Given the description of an element on the screen output the (x, y) to click on. 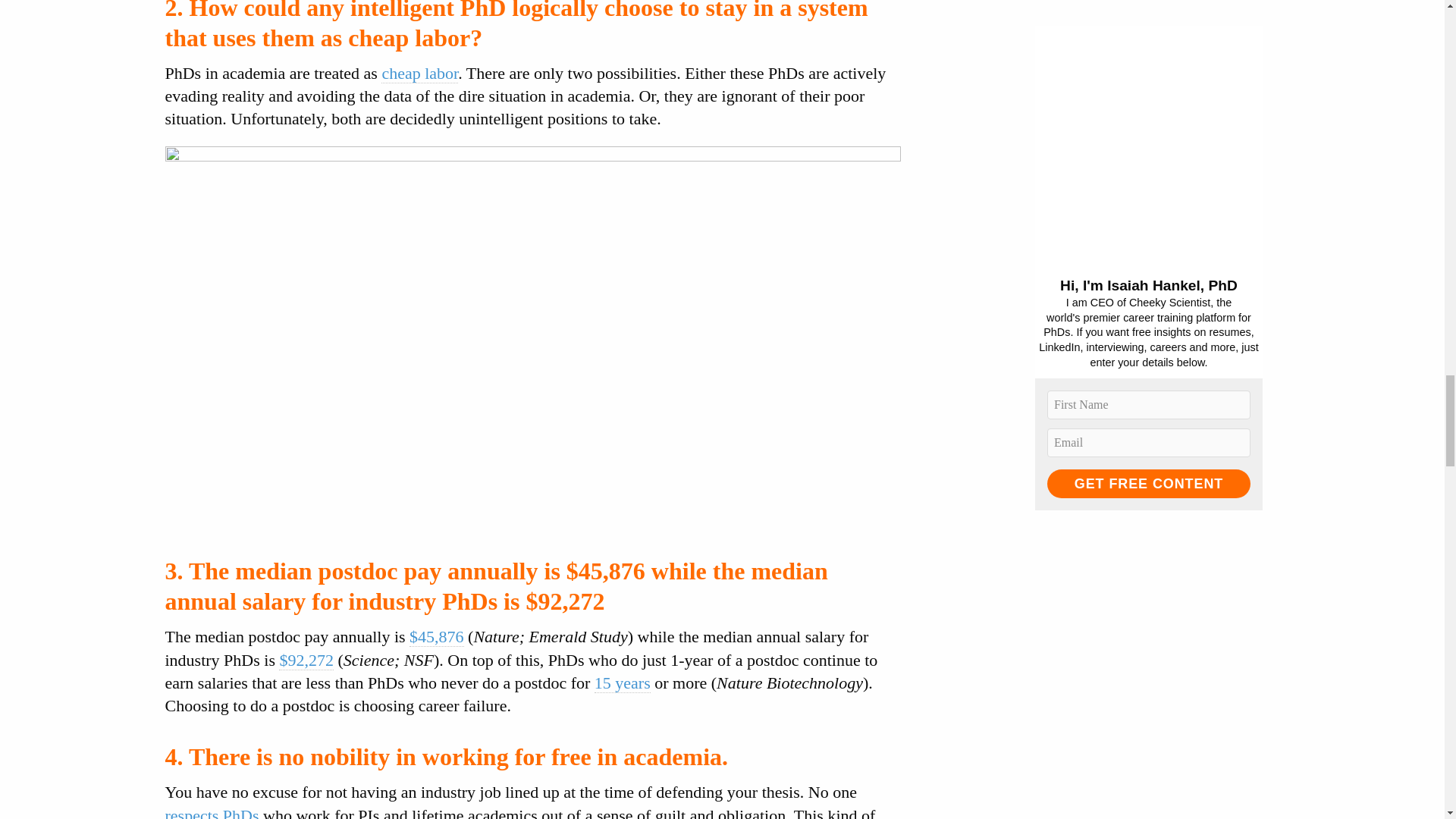
15 years (622, 682)
cheap labor (419, 73)
respects PhDs (212, 812)
